Given the description of an element on the screen output the (x, y) to click on. 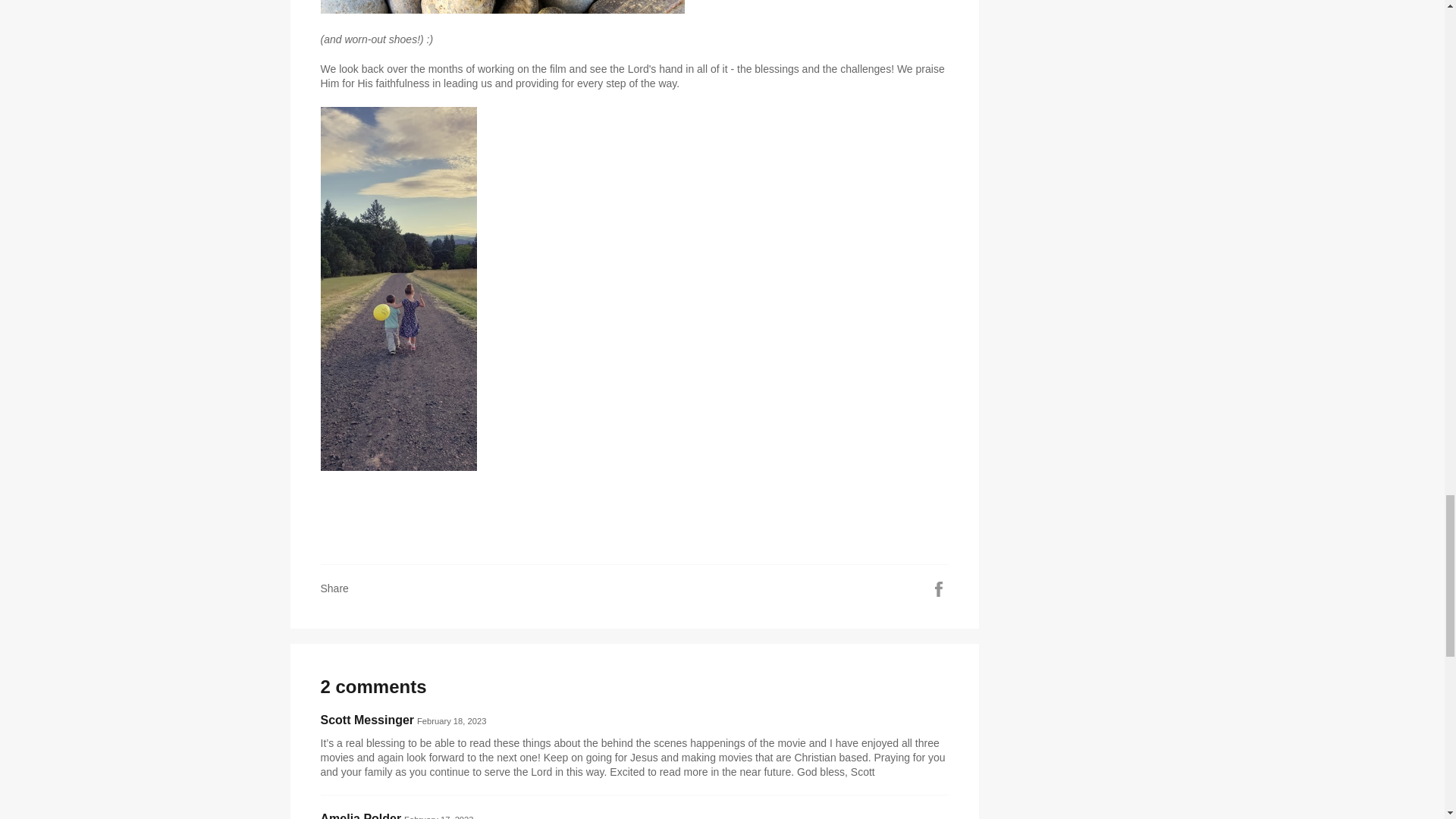
Share (938, 587)
